Given the description of an element on the screen output the (x, y) to click on. 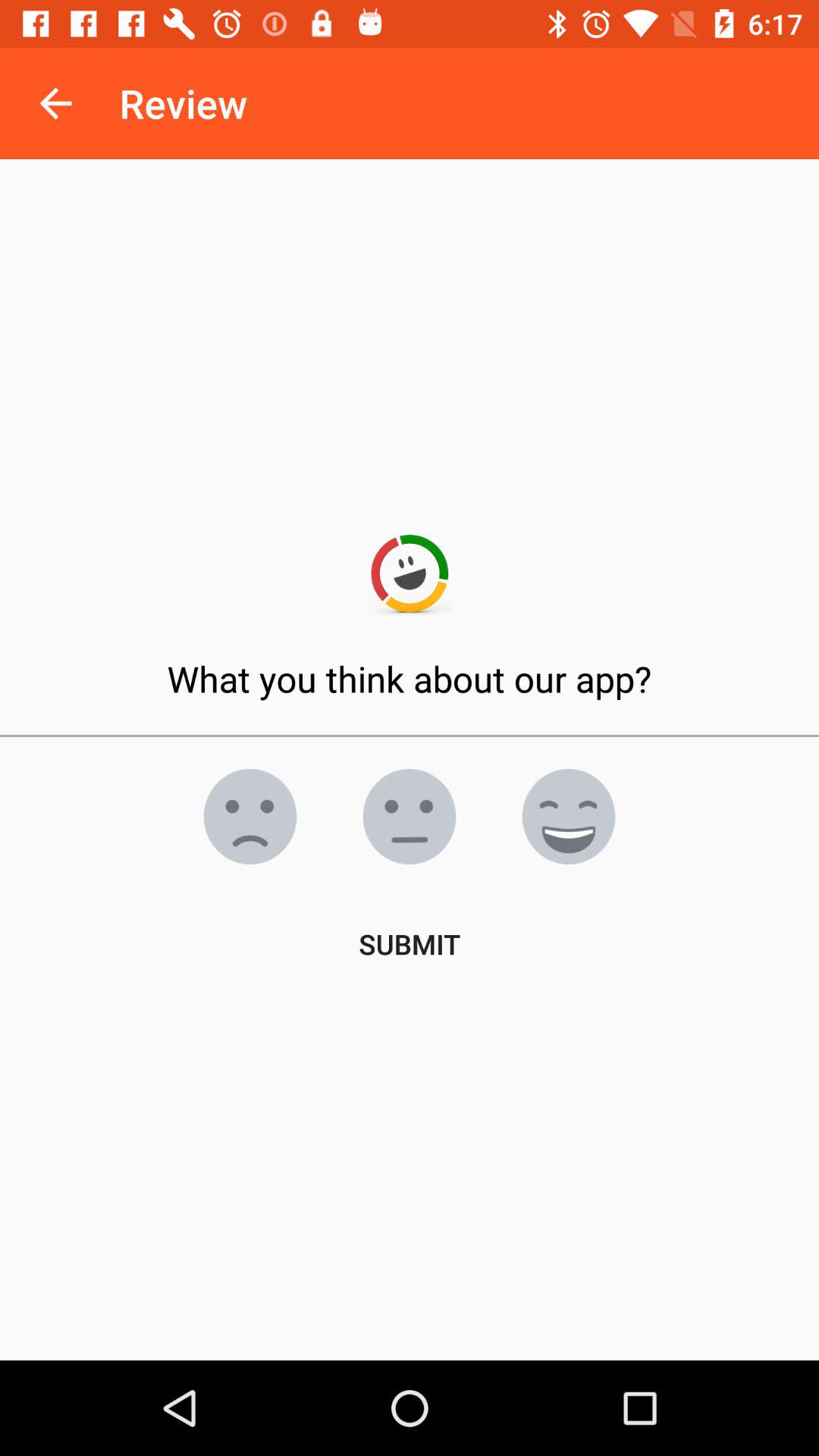
swipe until the submit item (409, 943)
